Given the description of an element on the screen output the (x, y) to click on. 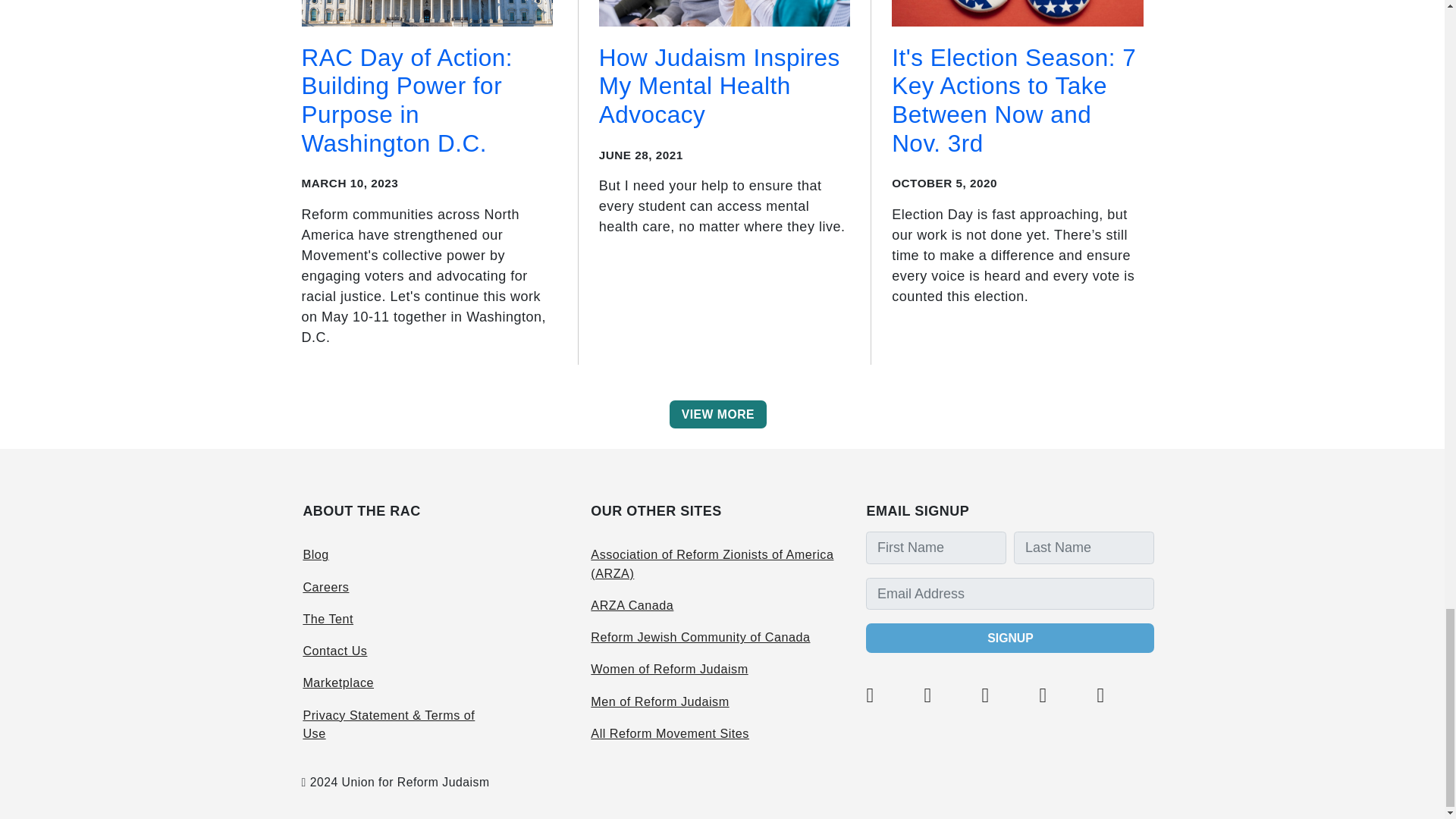
Signup (1010, 637)
Friday, March 10, 2023 - 05:20pm (349, 182)
Monday, October 5, 2020 - 07:00am (944, 182)
Monday, June 28, 2021 - 01:04pm (640, 154)
